Given the description of an element on the screen output the (x, y) to click on. 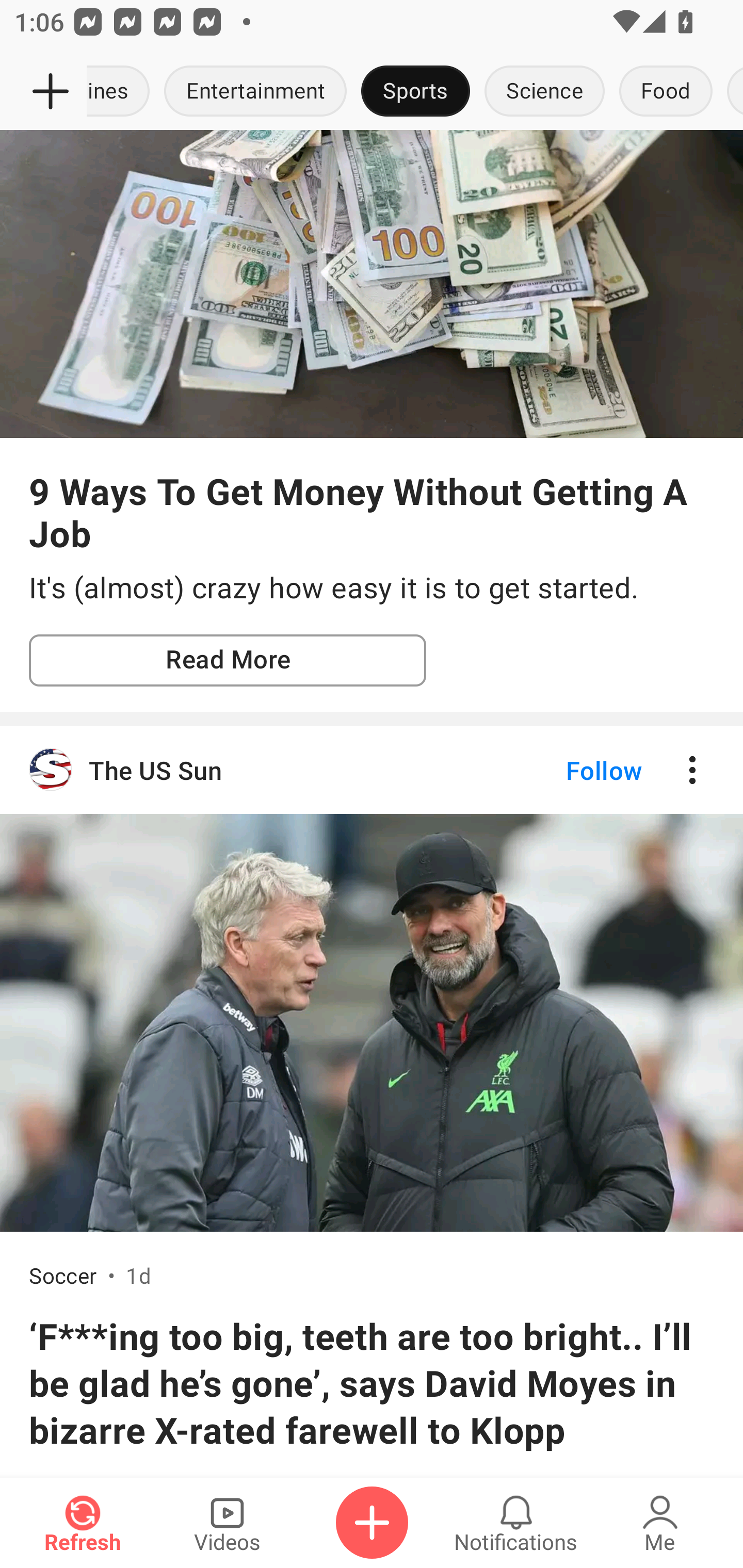
Headlines (121, 91)
Entertainment (254, 91)
Sports (415, 91)
Science (544, 91)
Food (665, 91)
9 Ways To Get Money Without Getting A Job (371, 511)
It's (almost) crazy how easy it is to get started. (371, 587)
Read More (227, 660)
The US Sun  Follow (371, 769)
Follow (569, 769)
Videos (227, 1522)
Notifications (516, 1522)
Me (659, 1522)
